Given the description of an element on the screen output the (x, y) to click on. 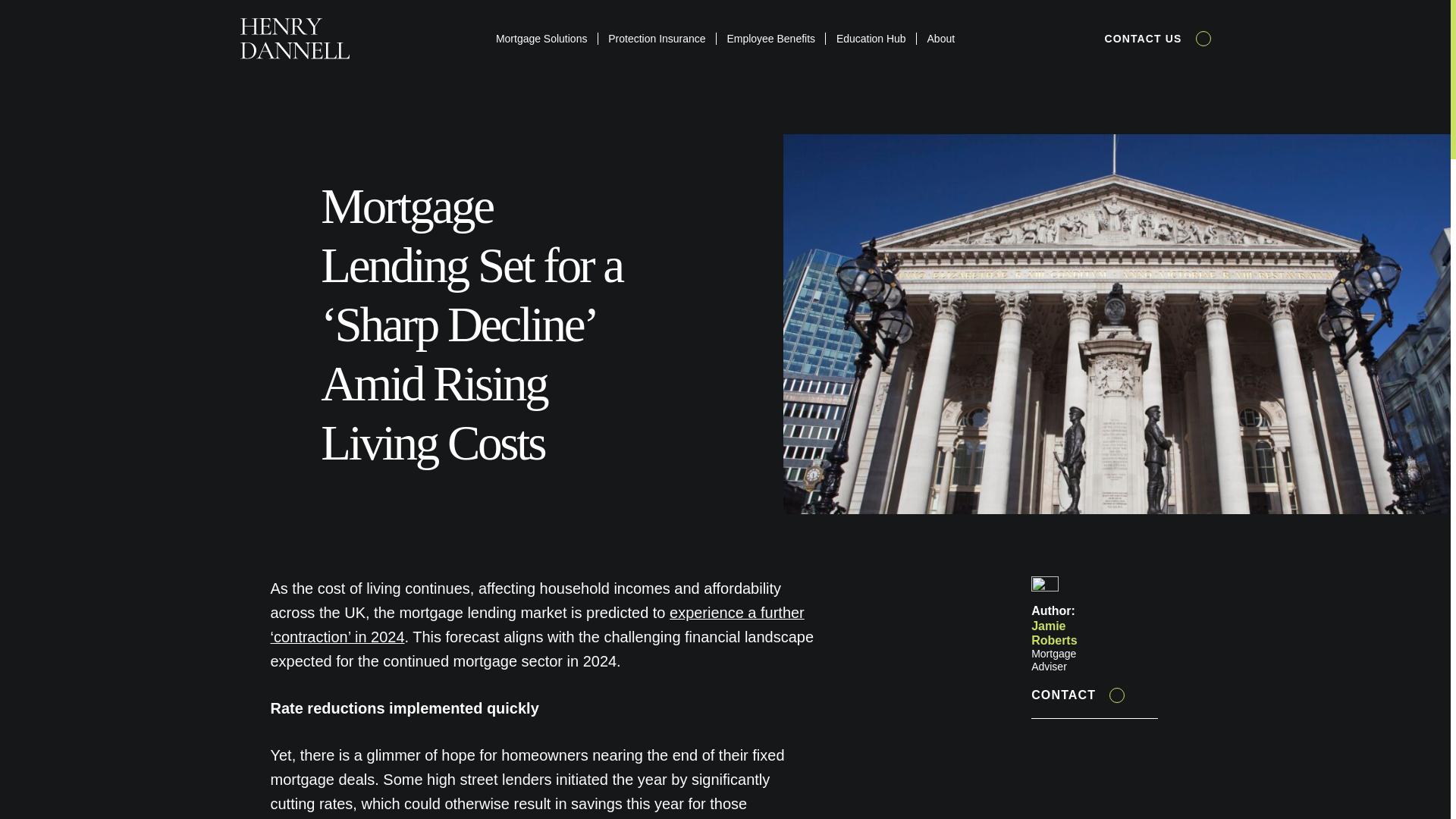
Protection Insurance (657, 38)
Employee Benefits (770, 38)
Mortgage Solutions (540, 38)
Education Hub (870, 38)
